Given the description of an element on the screen output the (x, y) to click on. 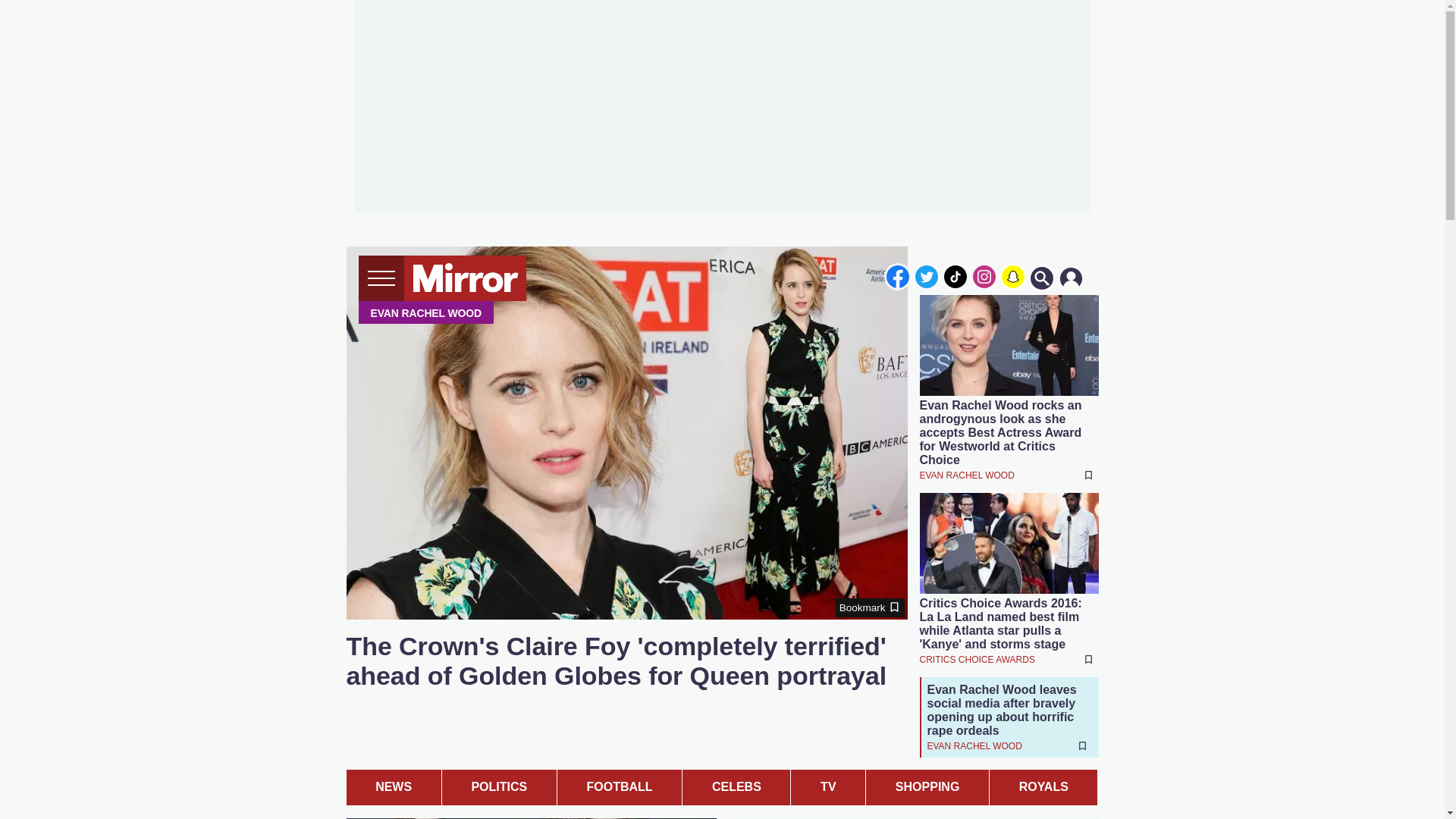
CRITICS CHOICE AWARDS (975, 658)
POLITICS (499, 786)
CELEBS (736, 786)
twitter (926, 276)
EVAN RACHEL WOOD (965, 475)
FOOTBALL (619, 786)
Bookmark (869, 607)
NEWS (393, 786)
SHOPPING (927, 786)
facebook (897, 276)
snapchat (1012, 276)
